Given the description of an element on the screen output the (x, y) to click on. 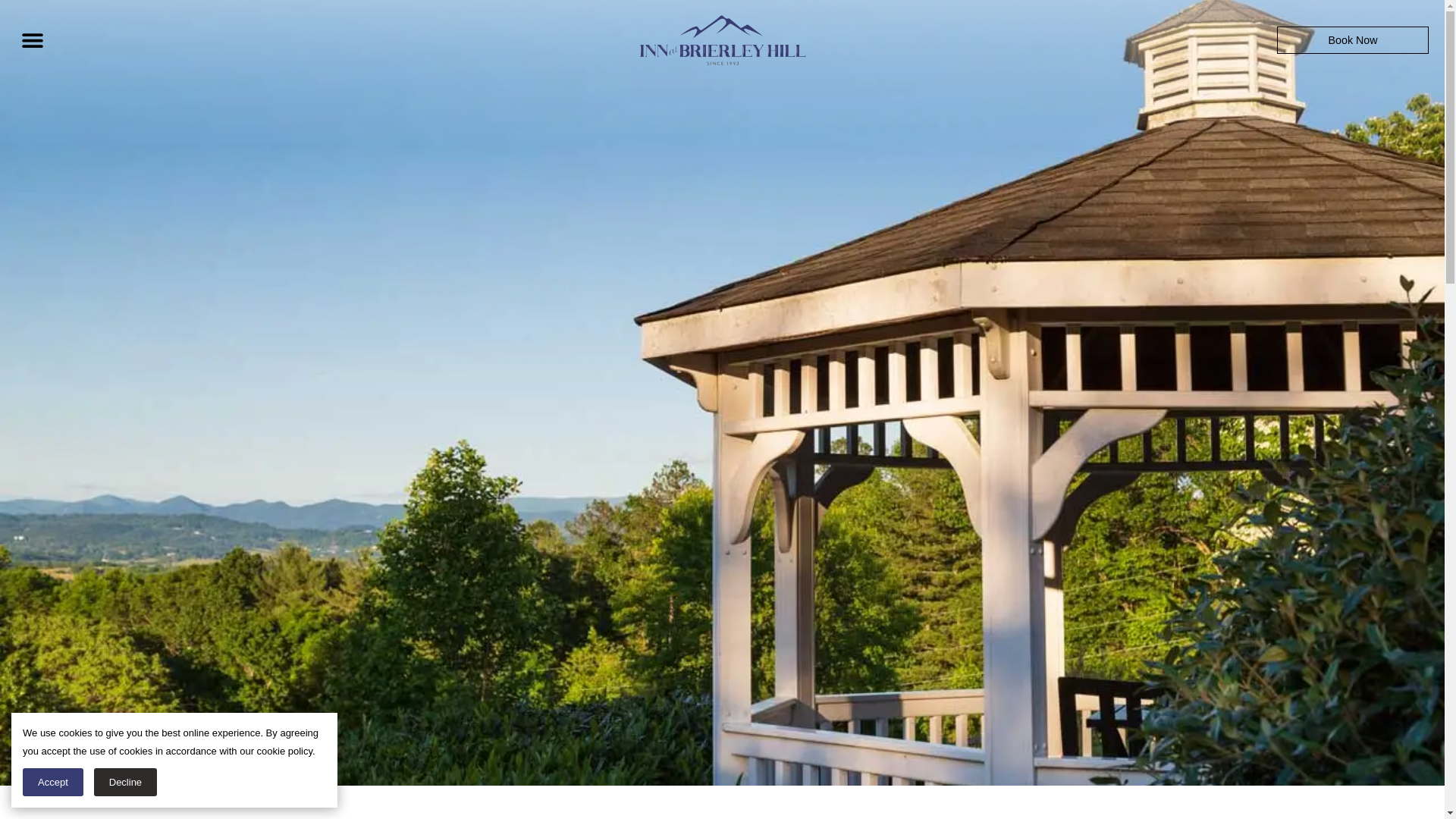
Book Now (1352, 40)
